Given the description of an element on the screen output the (x, y) to click on. 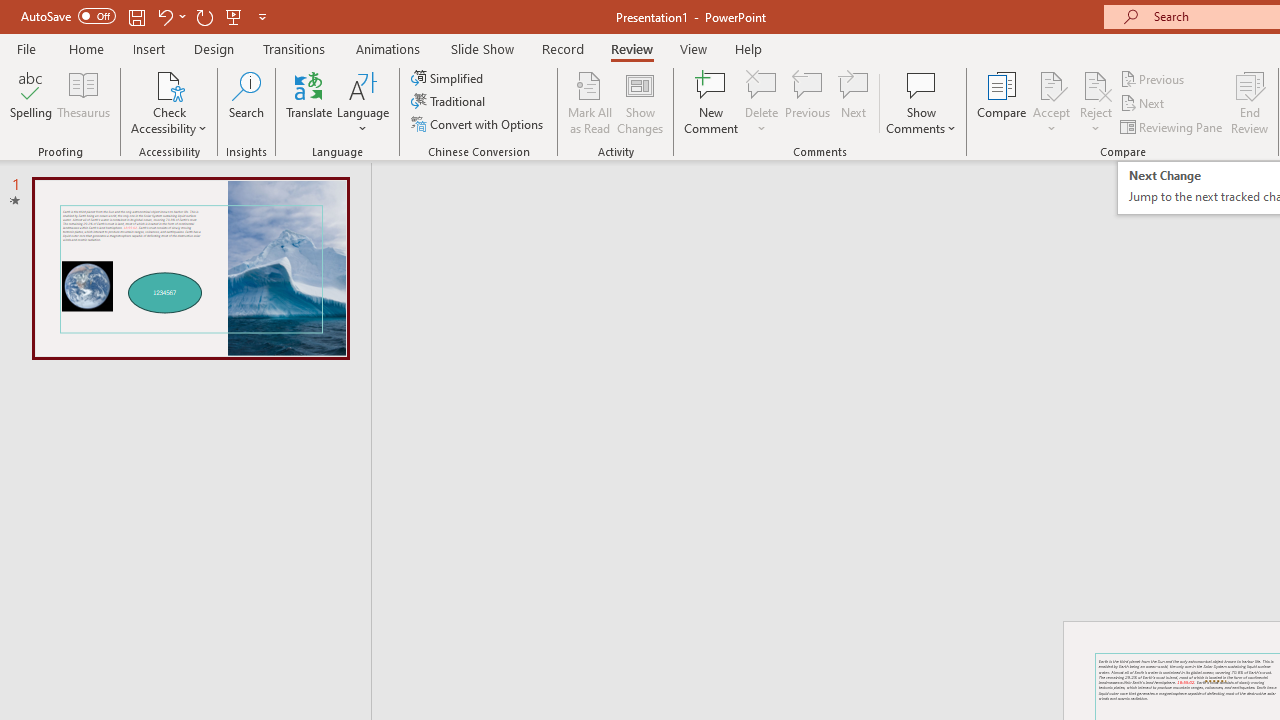
Show Comments (921, 84)
Check Accessibility (169, 84)
New Comment (711, 102)
Convert with Options... (479, 124)
Language (363, 102)
Reject Change (1096, 84)
Reviewing Pane (1172, 126)
Mark All as Read (589, 102)
